Given the description of an element on the screen output the (x, y) to click on. 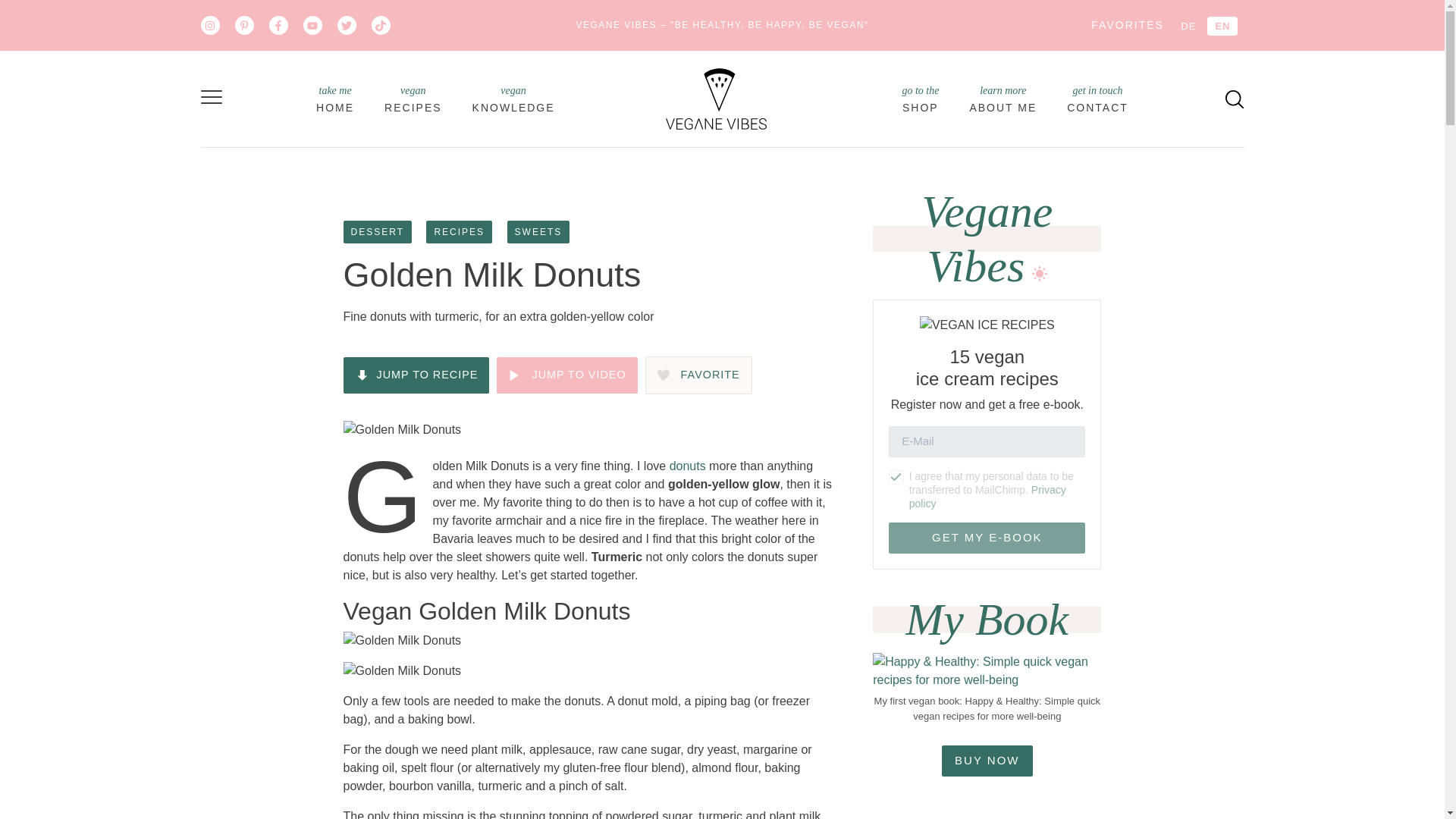
Shop (919, 99)
DESSERT (376, 231)
Recipes (412, 99)
search (1234, 97)
DE (1188, 26)
Home (919, 99)
search (334, 99)
Knowledge (1234, 99)
SWEETS (412, 99)
EN (1097, 99)
RECIPES (513, 99)
